Given the description of an element on the screen output the (x, y) to click on. 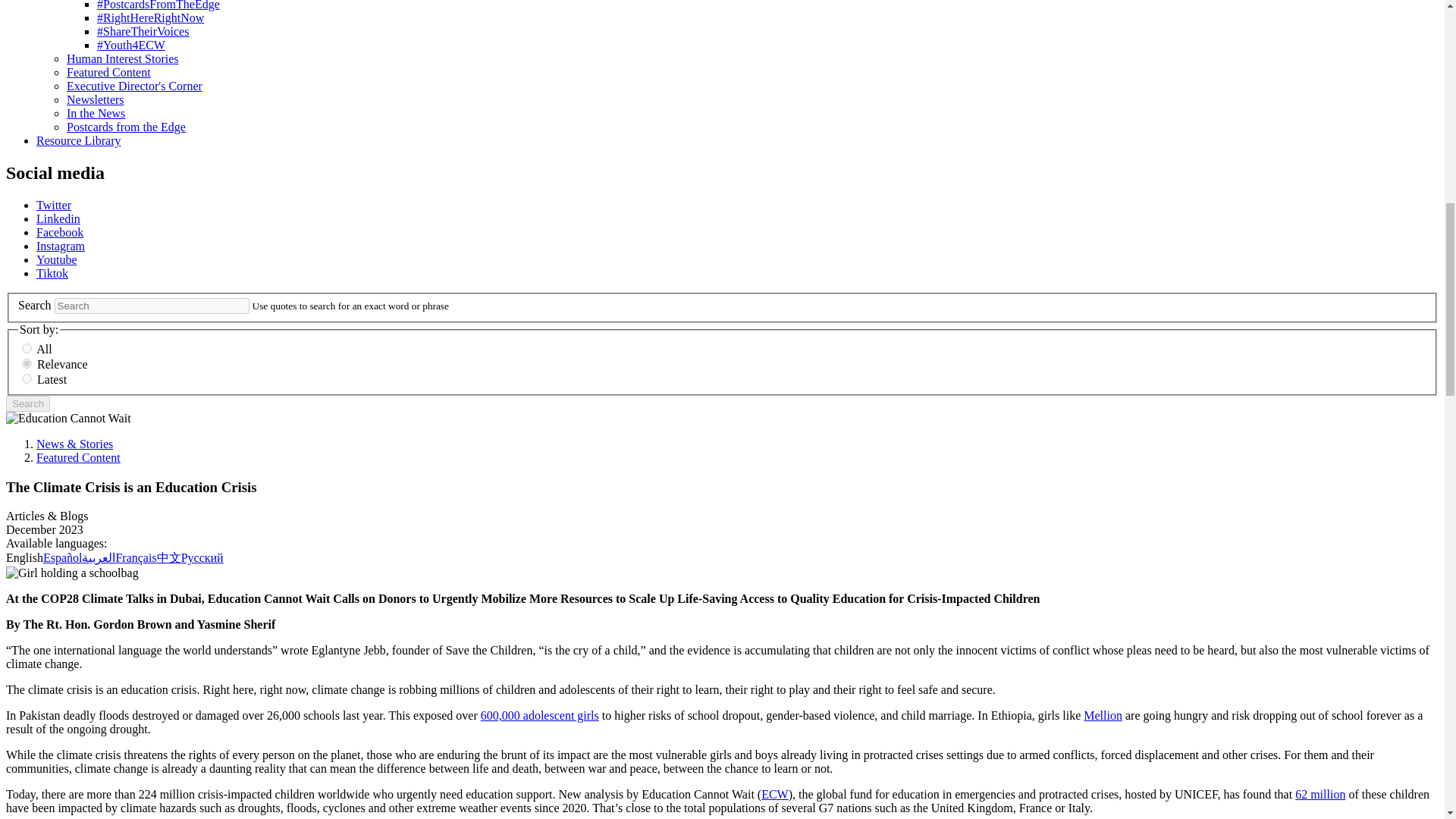
created (26, 378)
0 (26, 347)
